Given the description of an element on the screen output the (x, y) to click on. 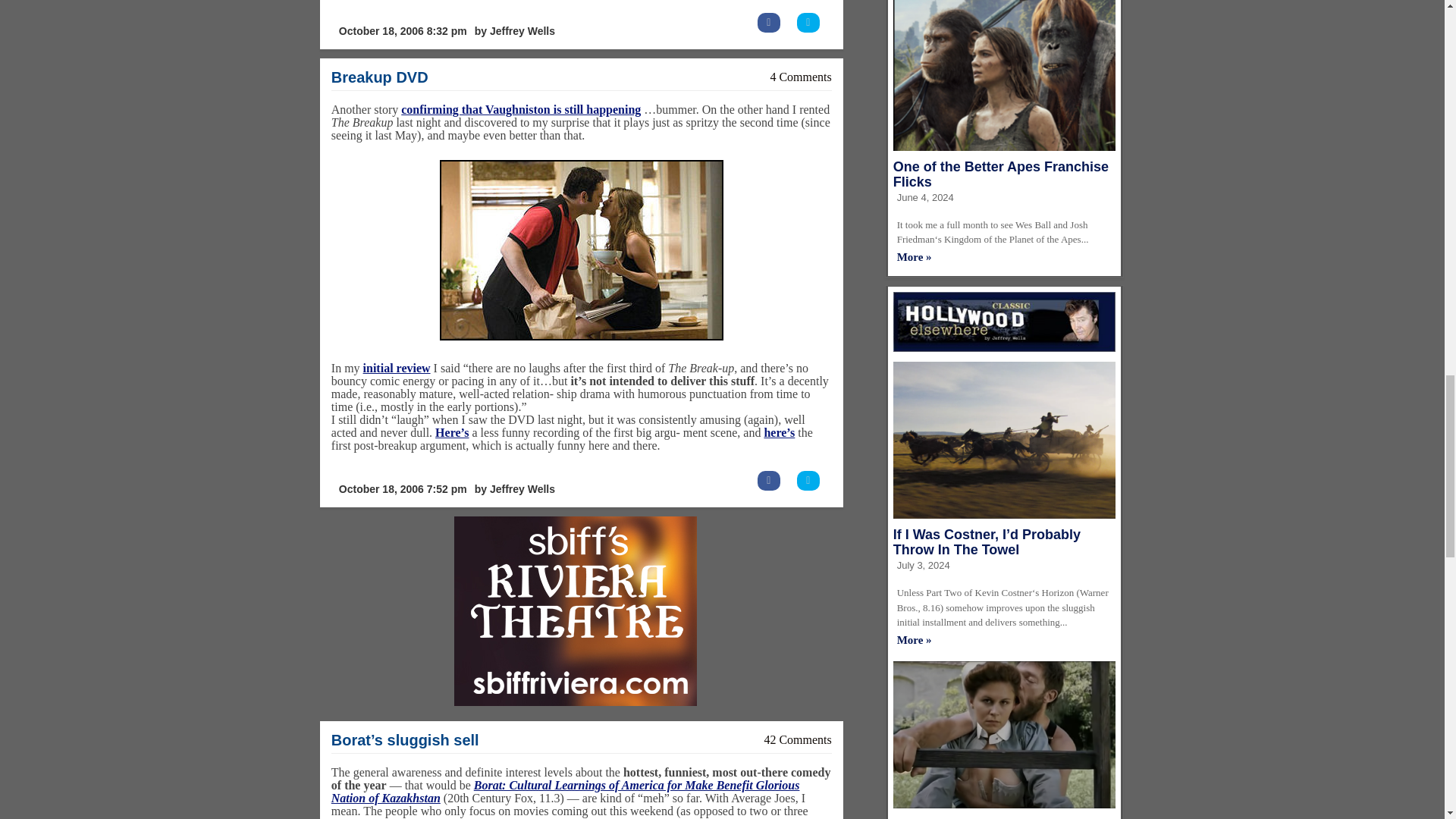
Permanent Link to Breakup DVD (379, 76)
